Given the description of an element on the screen output the (x, y) to click on. 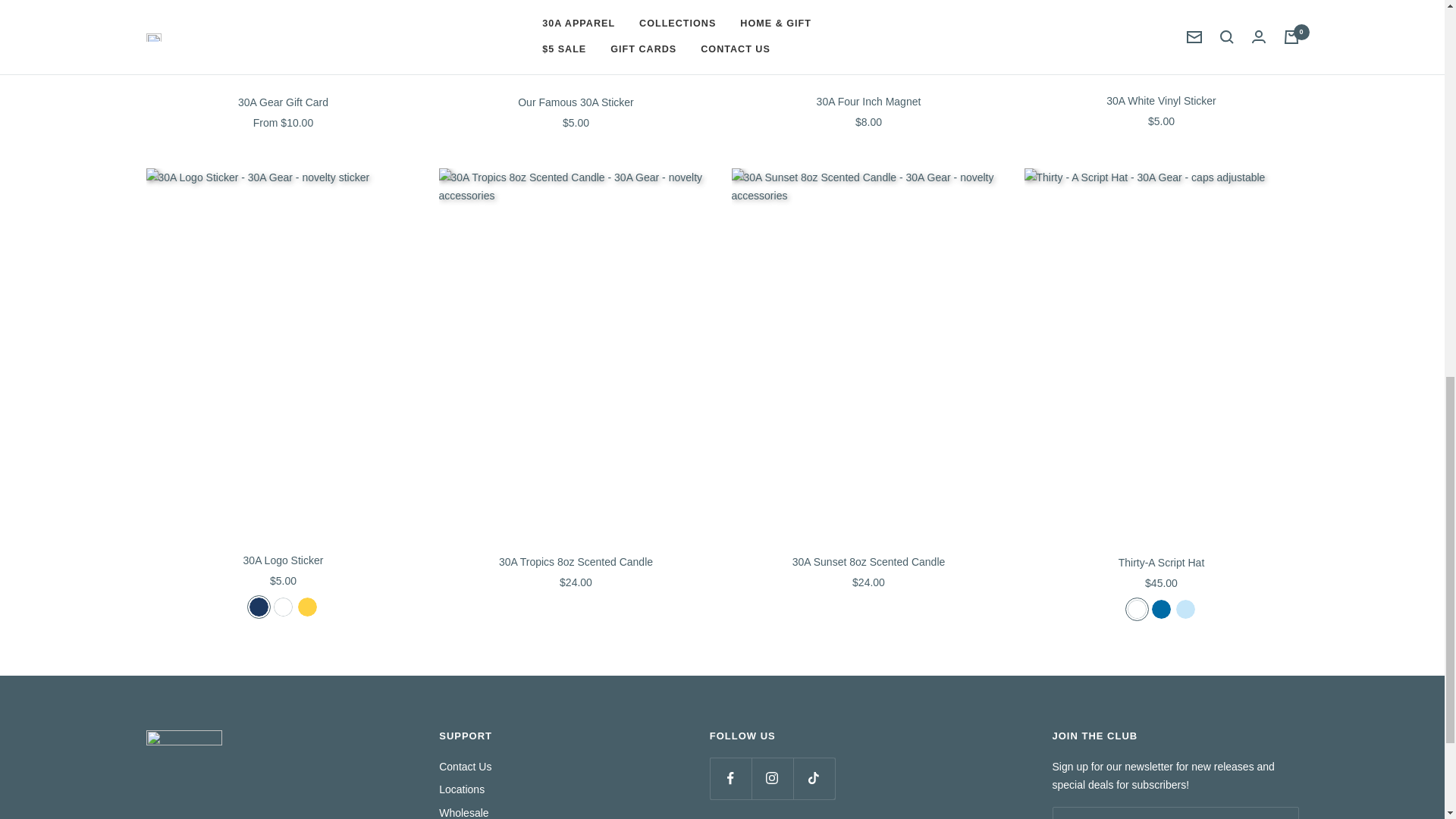
30A Logo Sticker (282, 560)
30A White Vinyl Sticker (1160, 100)
30A Four Inch Magnet (868, 101)
Our Famous 30A Sticker (575, 102)
Thirty-A Script Hat (1160, 562)
Wholesale (463, 811)
Contact Us (465, 766)
